Given the description of an element on the screen output the (x, y) to click on. 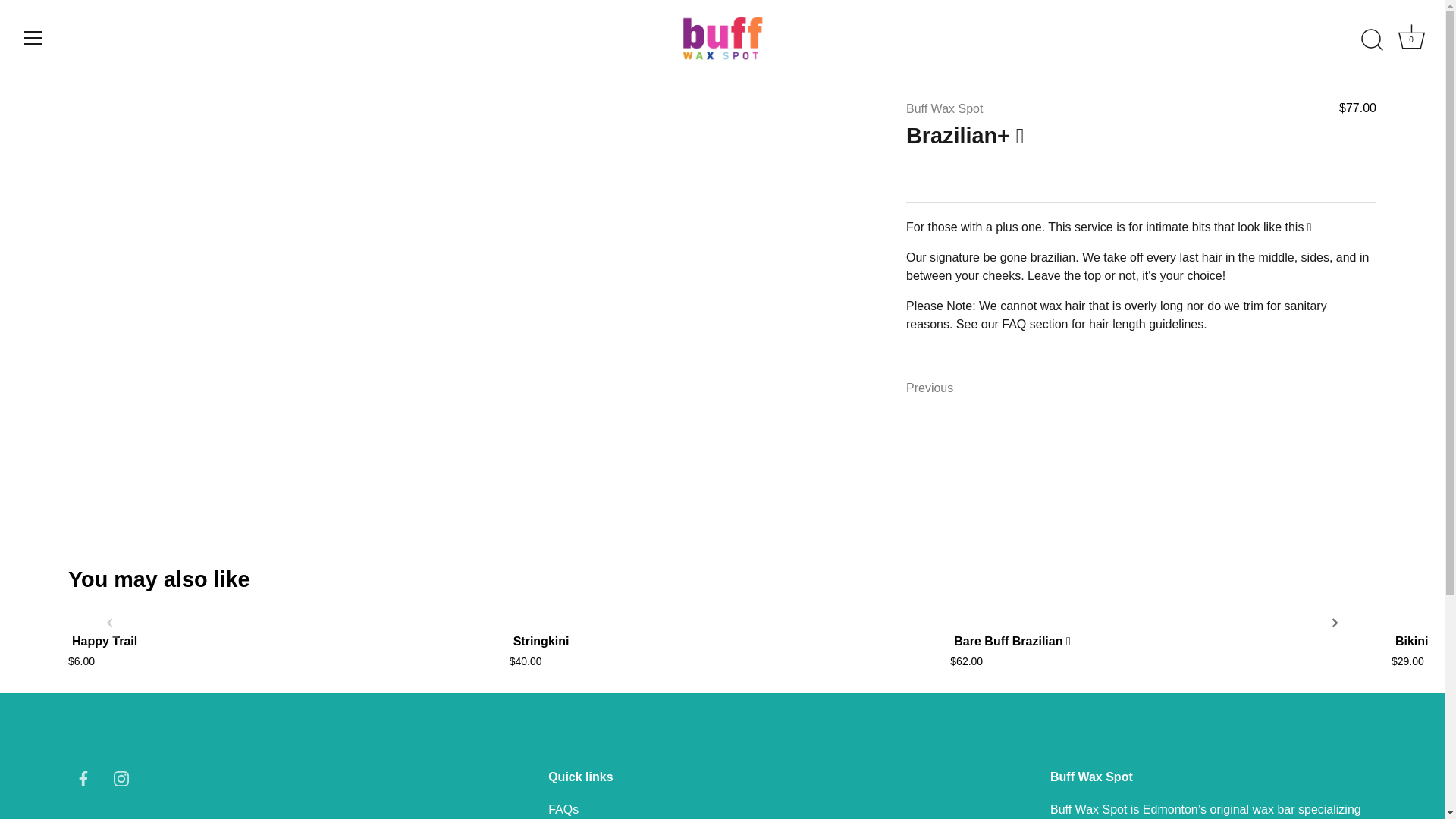
Previous (1411, 39)
Cart (929, 387)
Instagram (1411, 36)
Buff Wax Spot (121, 778)
The Buff Vajacial (943, 108)
